Given the description of an element on the screen output the (x, y) to click on. 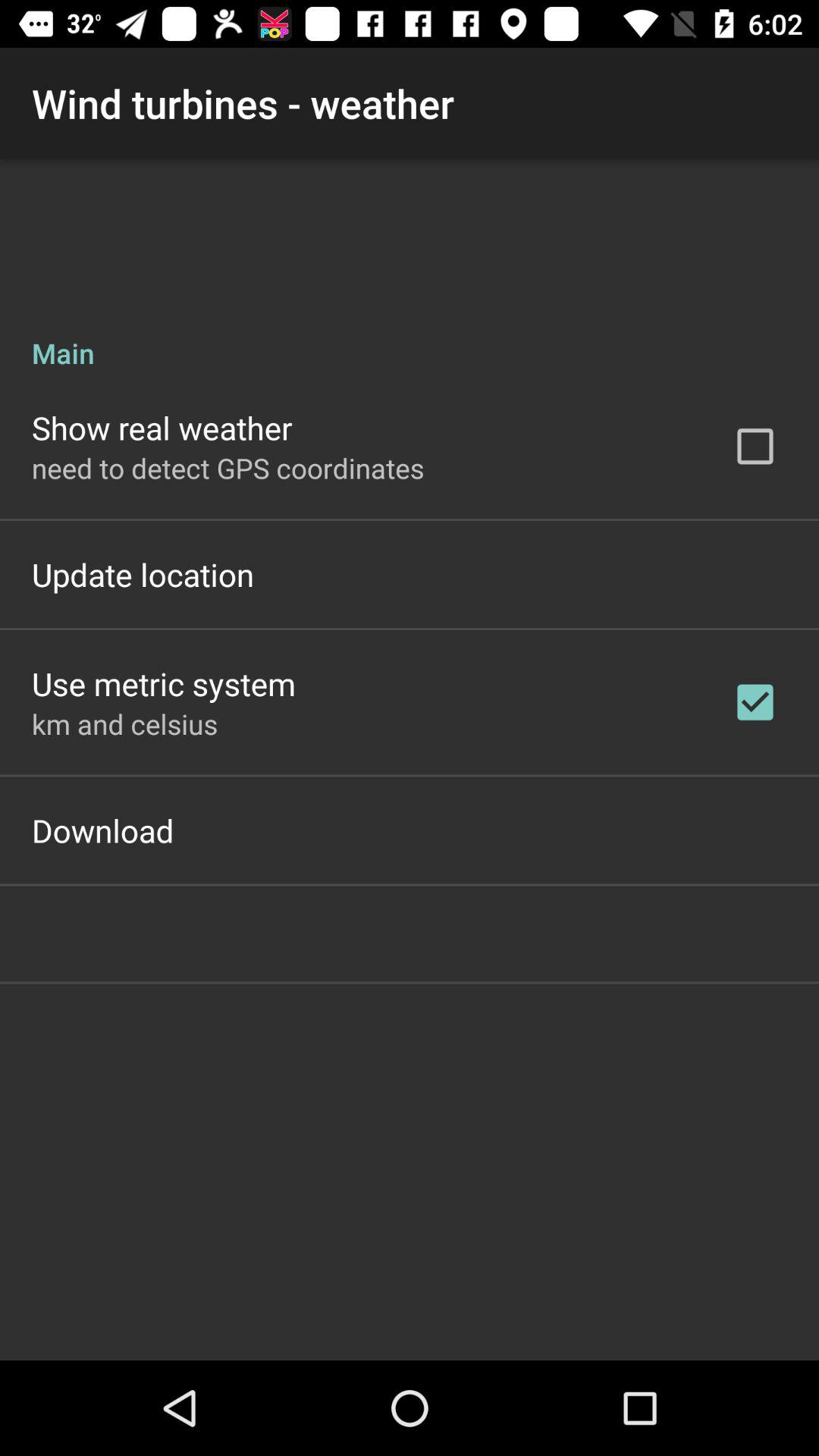
flip to km and celsius app (124, 723)
